Given the description of an element on the screen output the (x, y) to click on. 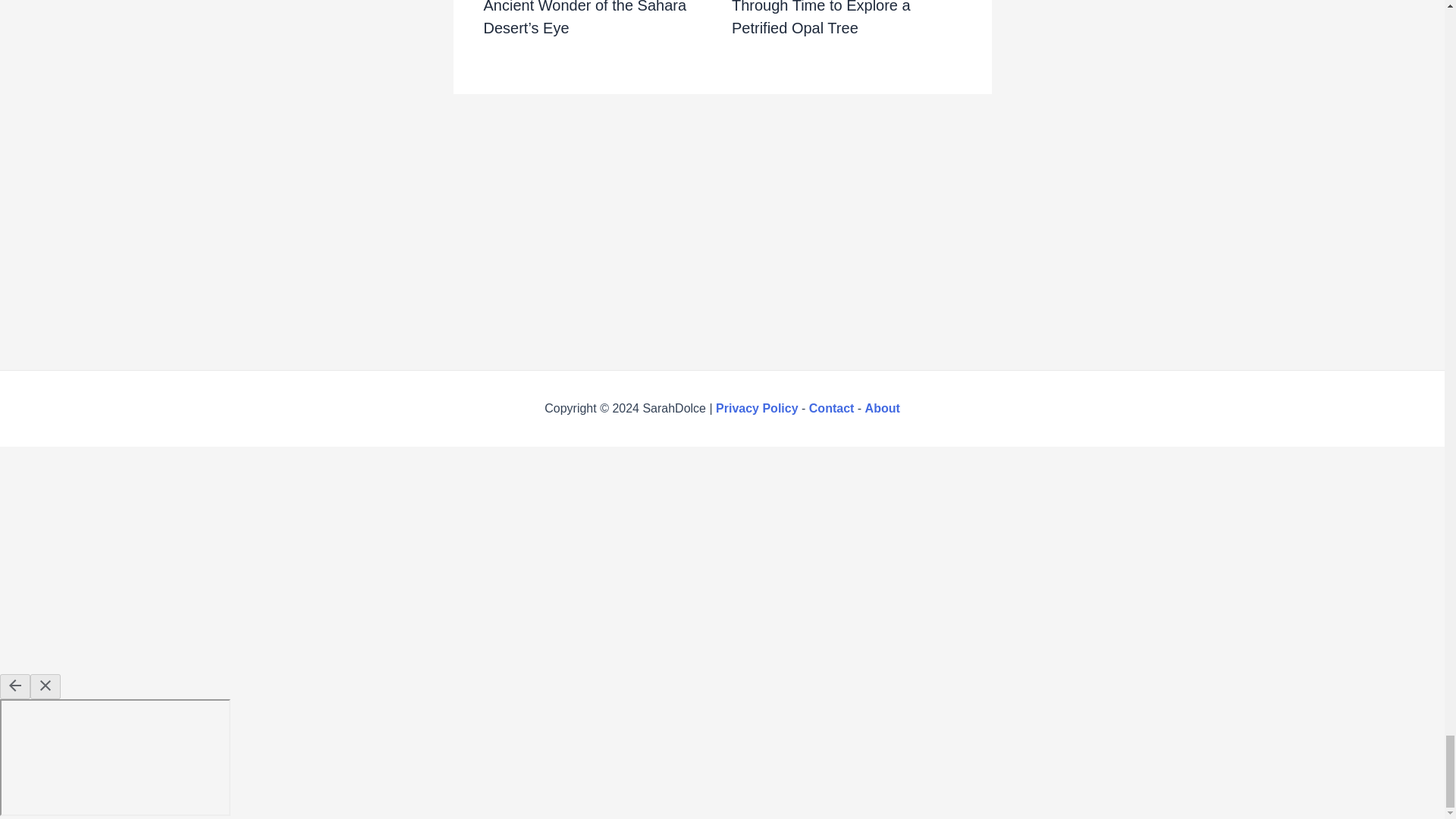
Privacy Policy (756, 408)
Contact (831, 408)
About (881, 408)
